Given the description of an element on the screen output the (x, y) to click on. 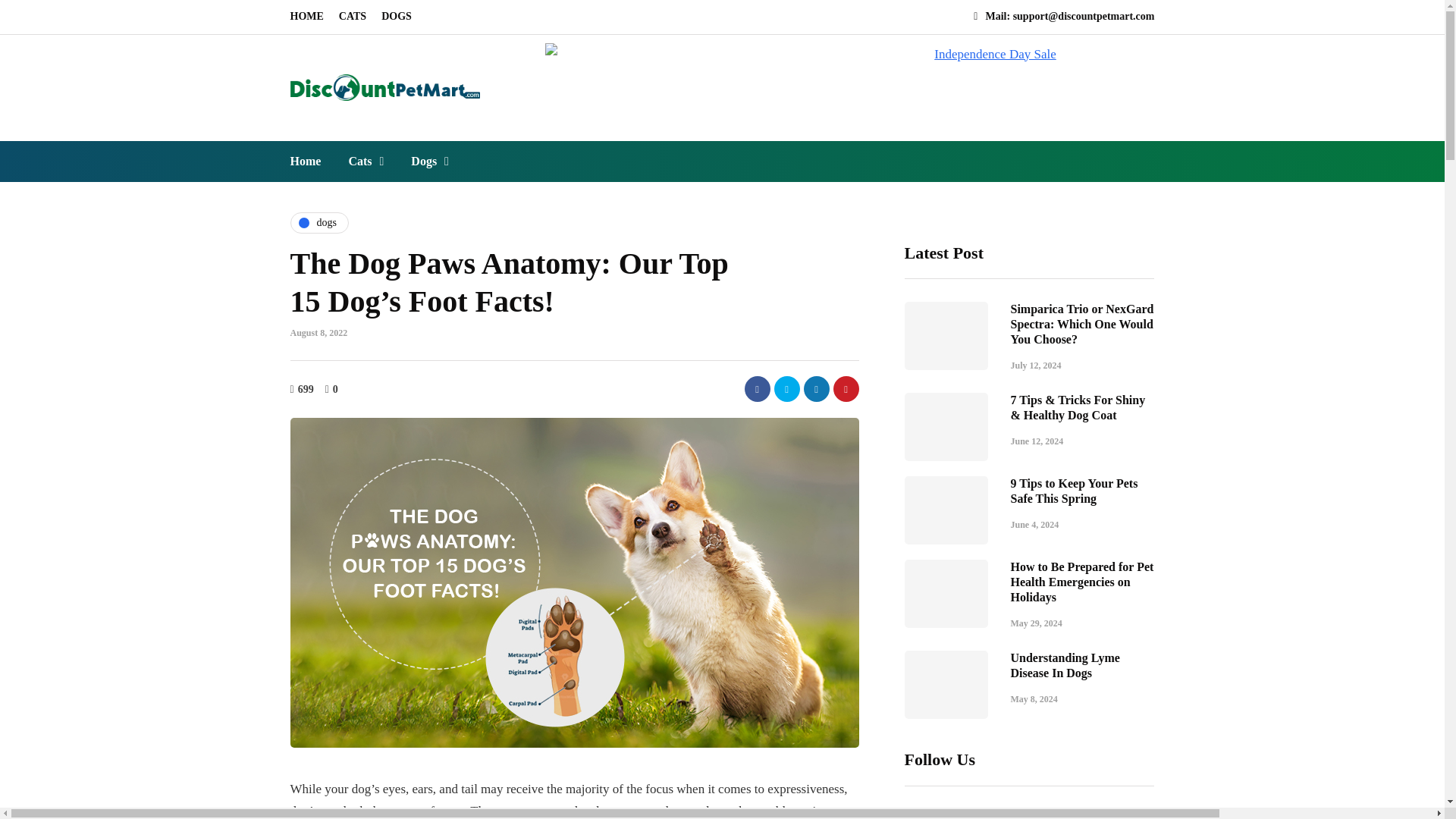
Share with Facebook (757, 388)
HOME (309, 17)
Tweet this (786, 388)
DOGS (396, 17)
CATS (352, 17)
Home (311, 160)
Cat (352, 17)
Pin this (845, 388)
Cat (365, 160)
Share with LinkedIn (816, 388)
Dogs (430, 160)
Dog Test (430, 160)
Dog Test (396, 17)
Cats (365, 160)
